Given the description of an element on the screen output the (x, y) to click on. 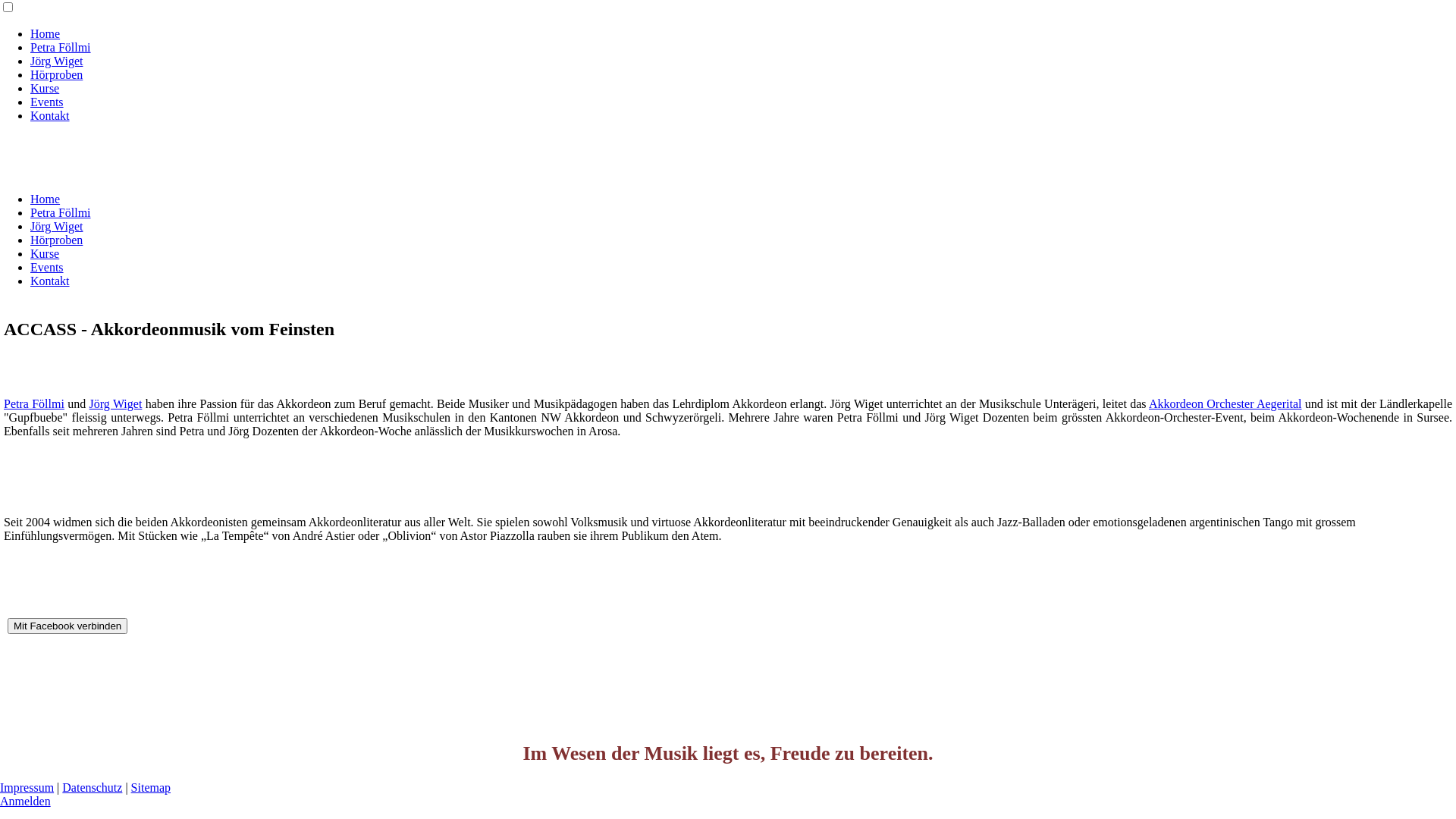
Impressum Element type: text (26, 787)
Events Element type: text (46, 266)
Kurse Element type: text (44, 253)
Kontakt Element type: text (49, 115)
Datenschutz Element type: text (92, 787)
Akkordeon Orchester Aegerital Element type: text (1225, 403)
Kontakt Element type: text (49, 280)
Events Element type: text (46, 101)
Anmelden Element type: text (25, 800)
Sitemap Element type: text (150, 787)
Home Element type: text (44, 33)
Mit Facebook verbinden Element type: text (67, 625)
Home Element type: text (44, 198)
Kurse Element type: text (44, 87)
